Given the description of an element on the screen output the (x, y) to click on. 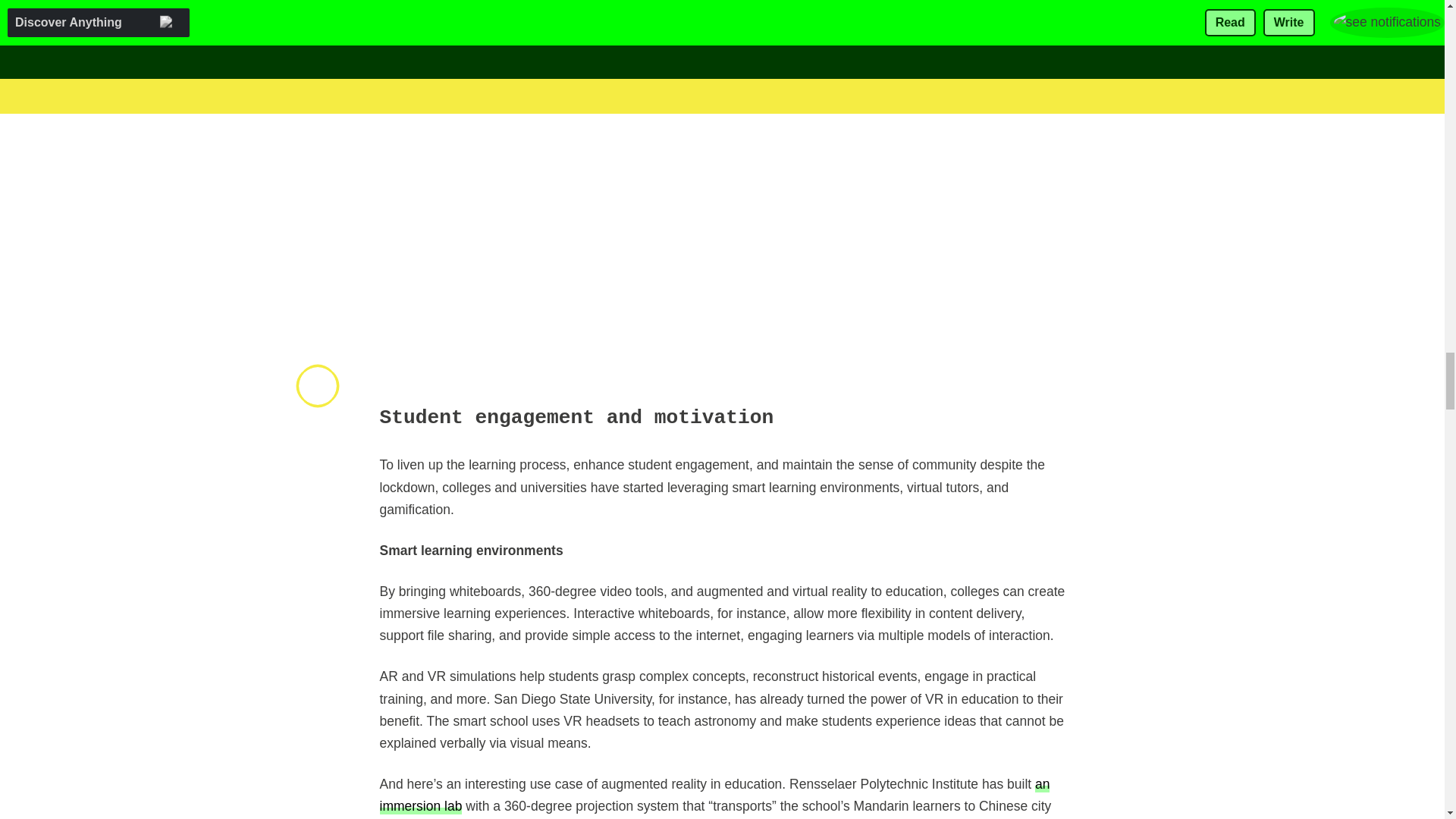
an immersion lab (713, 794)
